Given the description of an element on the screen output the (x, y) to click on. 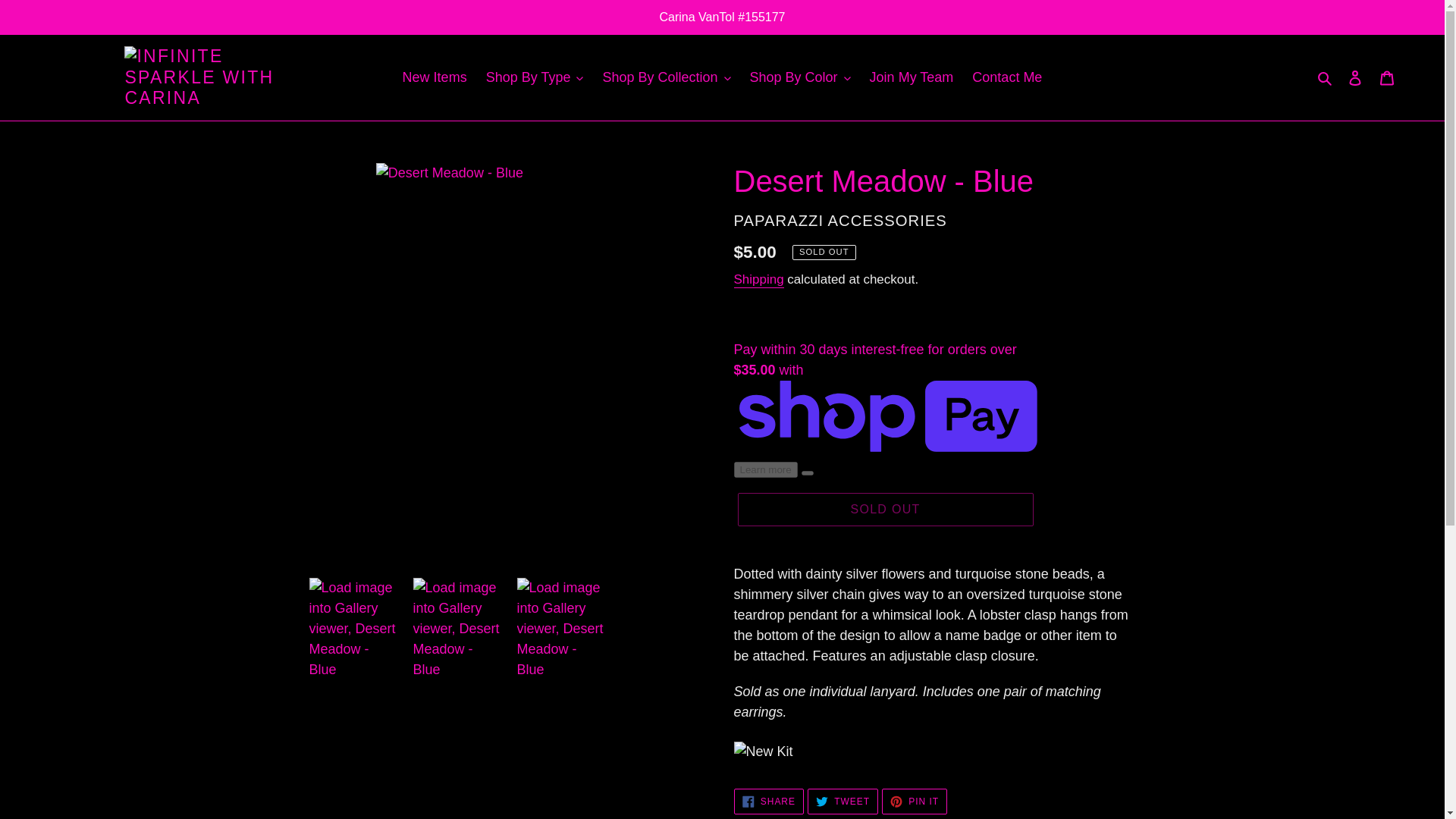
New Items (434, 77)
Shop By Collection (666, 77)
Shop By Type (535, 77)
Shop By Color (800, 77)
